Given the description of an element on the screen output the (x, y) to click on. 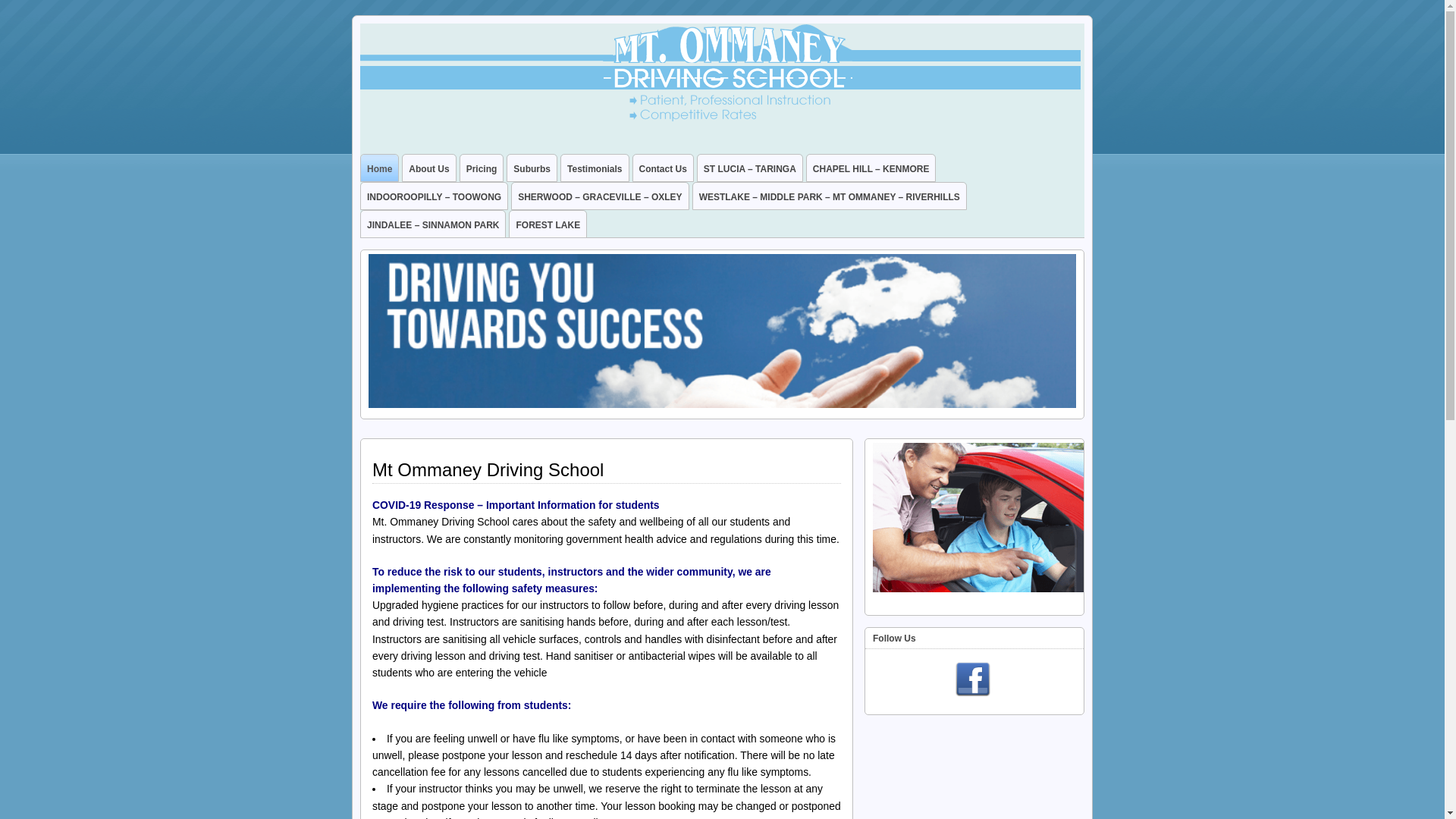
Facebook Element type: hover (971, 679)
Testimonials Element type: text (594, 167)
Home Element type: text (379, 167)
FOREST LAKE Element type: text (547, 223)
Contact Us Element type: text (662, 167)
Suburbs Element type: text (531, 167)
Pricing Element type: text (481, 167)
About Us Element type: text (428, 167)
